Given the description of an element on the screen output the (x, y) to click on. 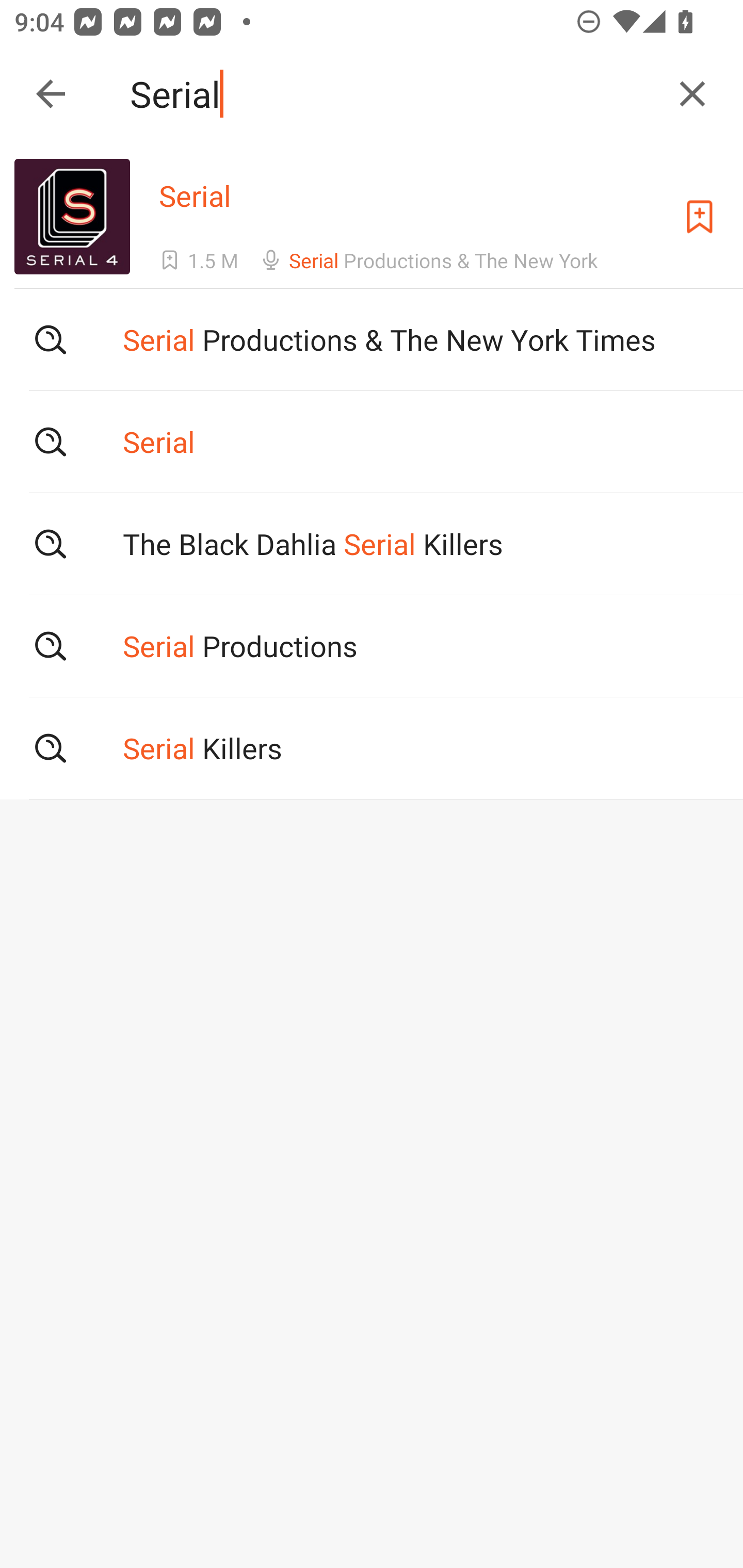
Collapse (50, 93)
Clear query (692, 93)
Serial (393, 94)
Subscribe (699, 216)
 Serial Productions & The New York Times (371, 339)
 Serial (371, 441)
 The Black Dahlia Serial Killers (371, 543)
 Serial Productions (371, 645)
 Serial Killers (371, 748)
